Given the description of an element on the screen output the (x, y) to click on. 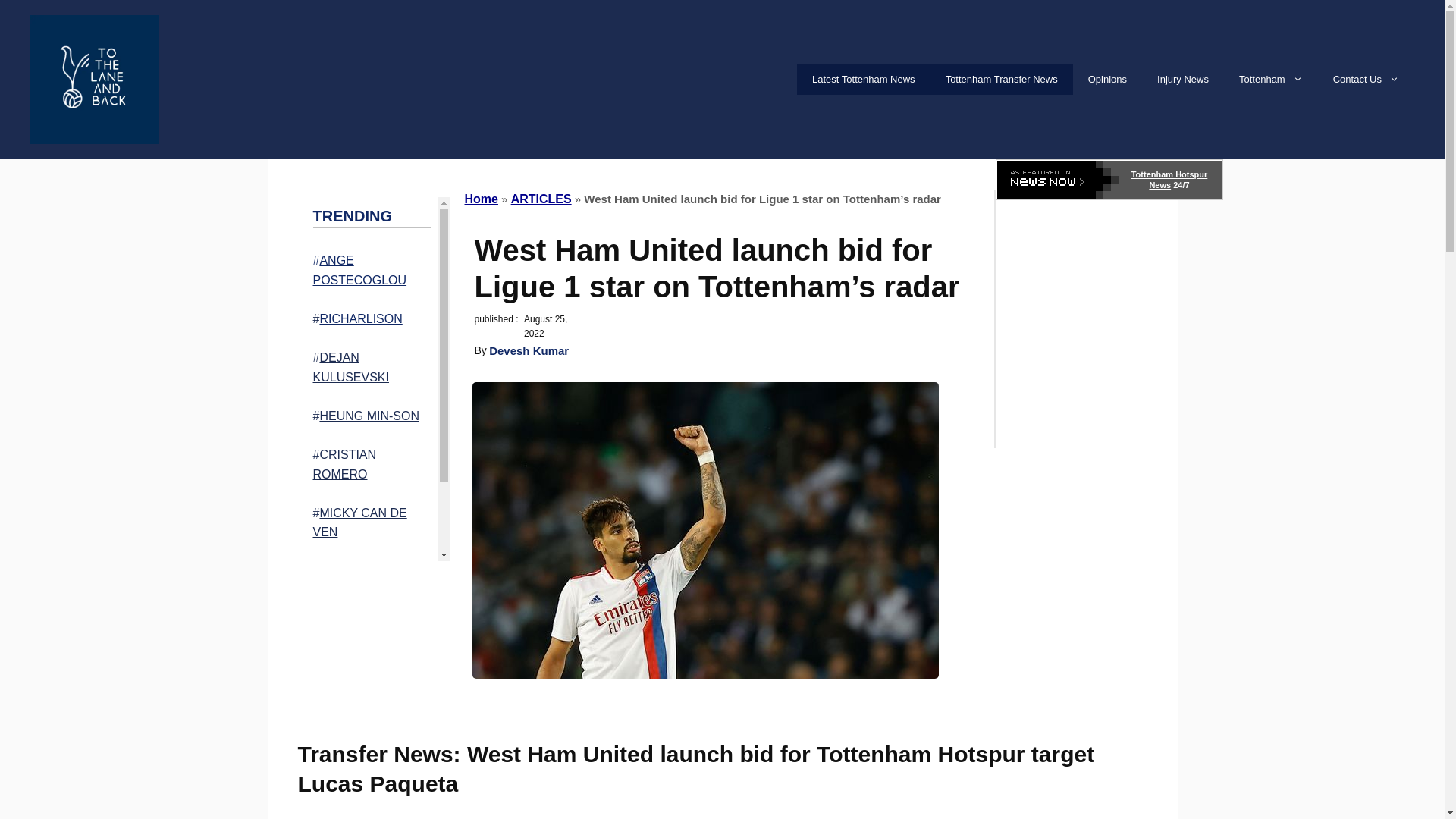
Opinions (1107, 79)
Tottenham Hotspur News (1169, 179)
RADU DRAGUSIN (369, 570)
CRISTIAN ROMERO (344, 463)
ANGE POSTECOGLOU (359, 269)
Home (480, 198)
MICKY CAN DE VEN (359, 522)
Tottenham (1270, 79)
ARCHIE GRAY (366, 611)
Latest Tottenham News (863, 79)
RICHARLISON (359, 318)
Click here for more Tottenham Hotspur news from NewsNow (1108, 178)
ARTICLES (541, 198)
Devesh Kumar (529, 350)
DEJAN KULUSEVSKI (350, 367)
